Given the description of an element on the screen output the (x, y) to click on. 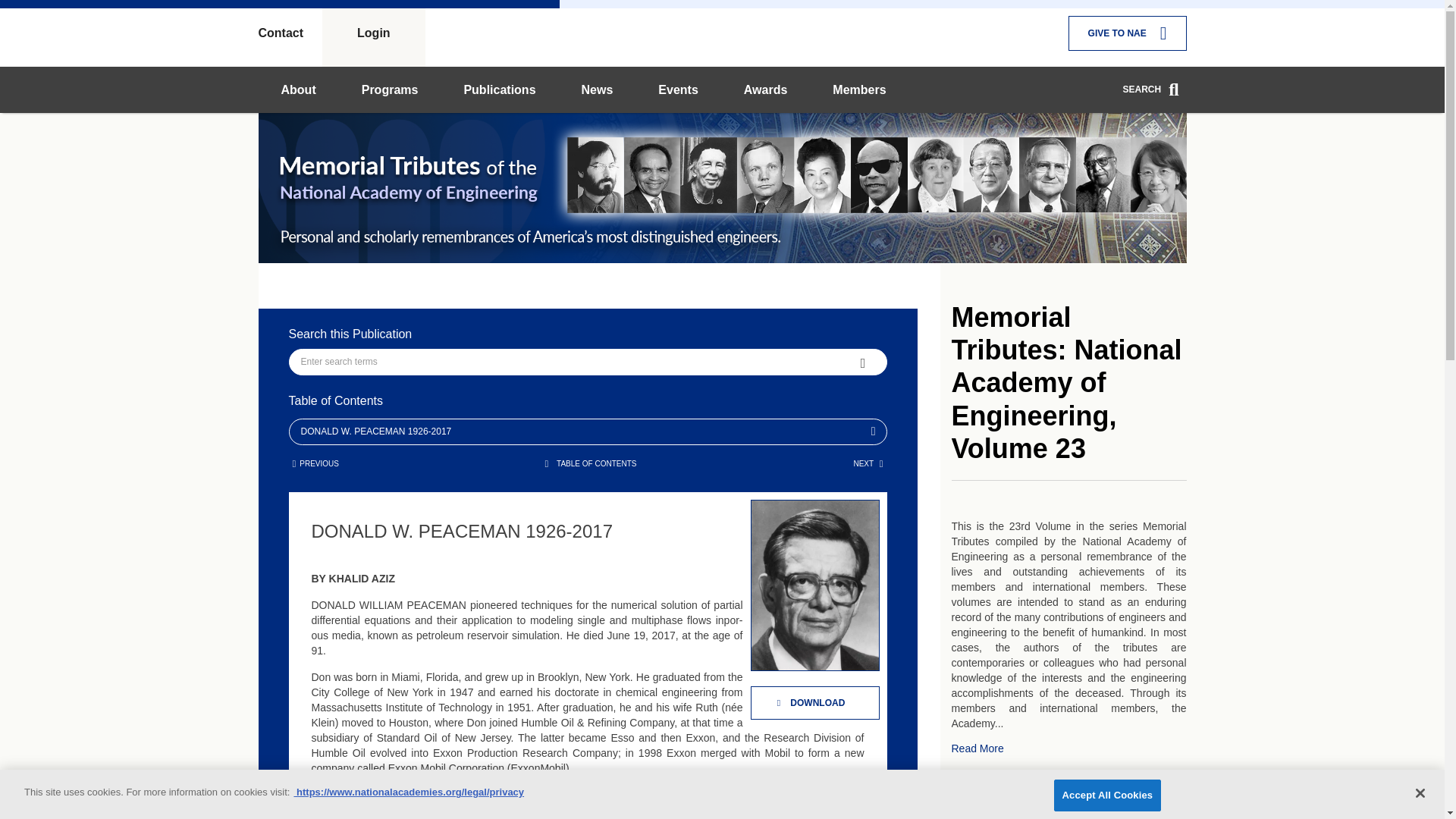
Contact (289, 33)
Login (373, 33)
 DONALD W. PEACEMAN 1926-2017 (594, 86)
GIVE TO NAE (1127, 32)
EMIL PFENDER 1925-2016 (867, 463)
KARL H. NORRIS 1921-2019 (315, 463)
